Given the description of an element on the screen output the (x, y) to click on. 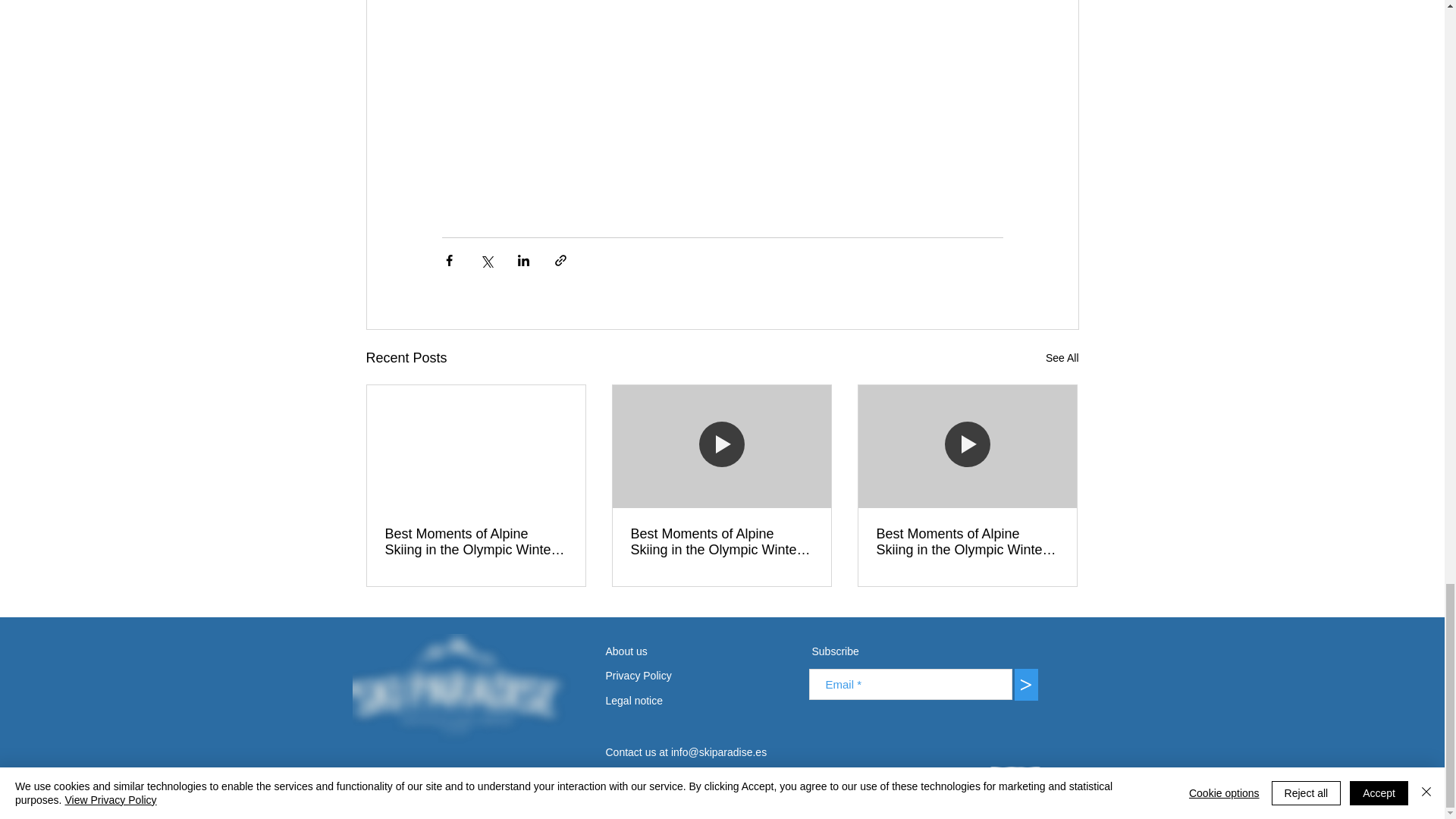
About us (643, 651)
See All (1061, 358)
Privacy Policy (661, 676)
Legal notice (645, 700)
